Given the description of an element on the screen output the (x, y) to click on. 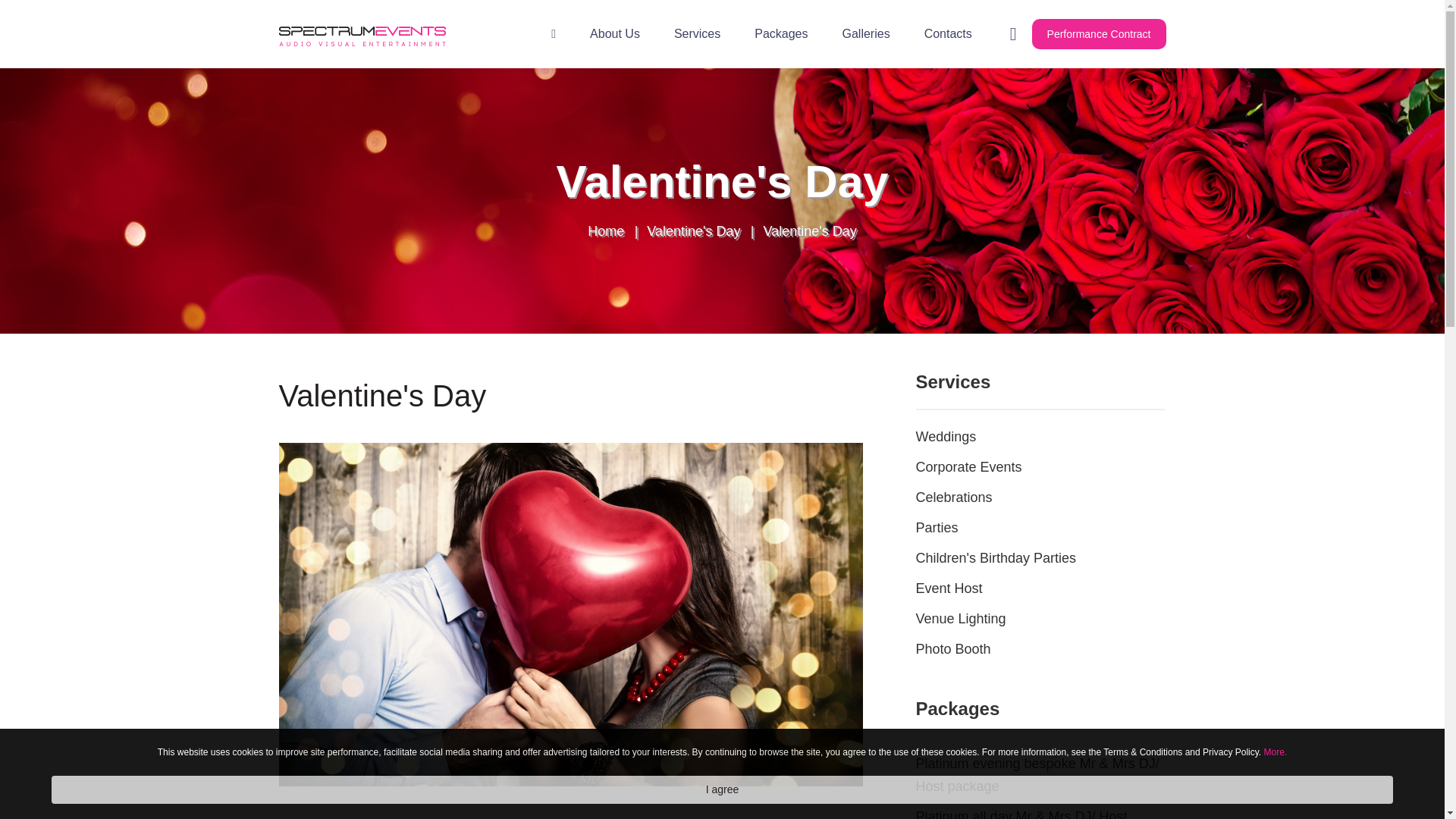
Services (697, 34)
About Us (614, 34)
I agree (721, 789)
More. (1275, 751)
Performance Contract (1099, 33)
Contacts (948, 34)
Galleries (865, 34)
Packages (781, 34)
